Given the description of an element on the screen output the (x, y) to click on. 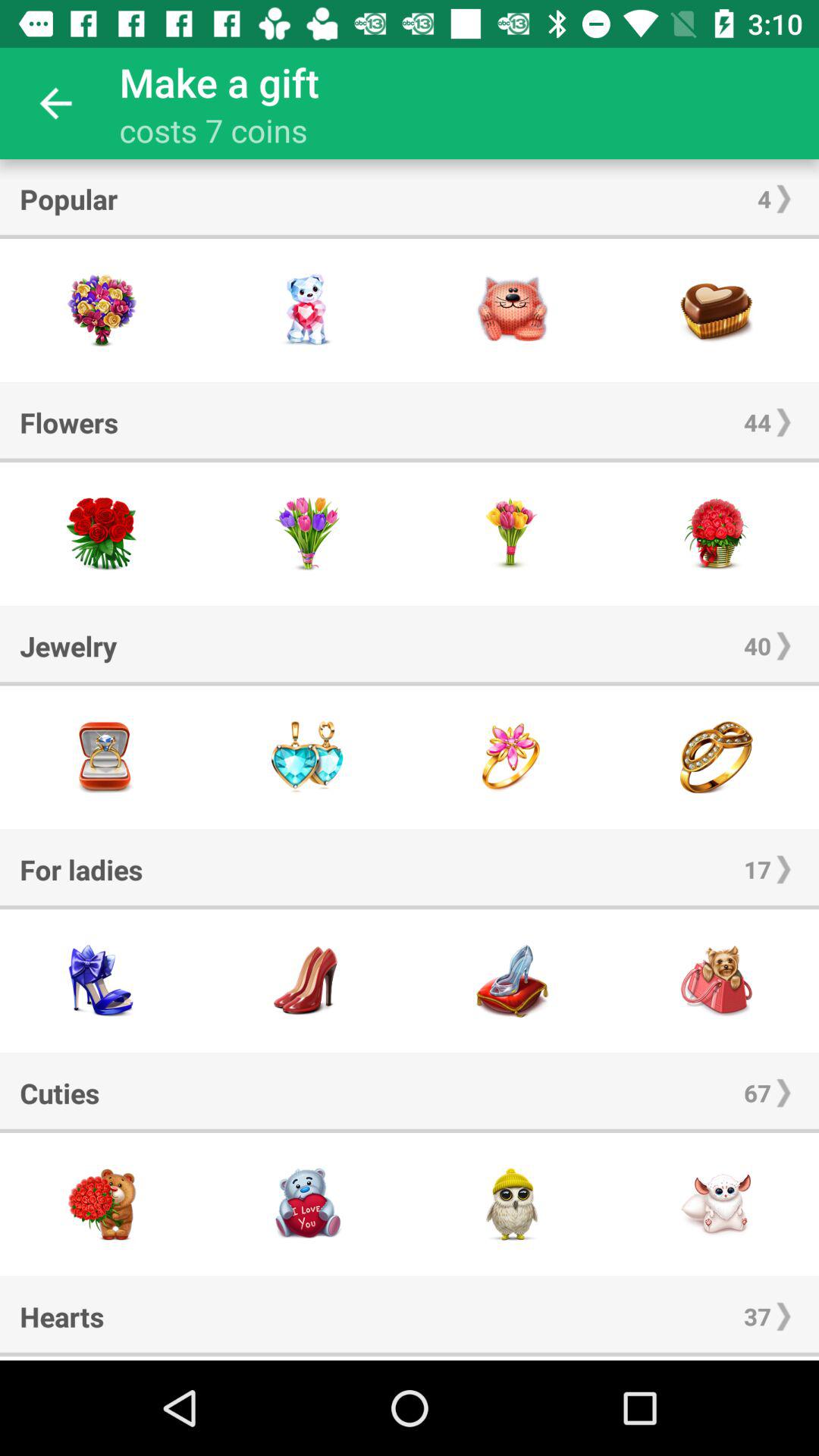
tap item to the right of the for ladies item (757, 869)
